Given the description of an element on the screen output the (x, y) to click on. 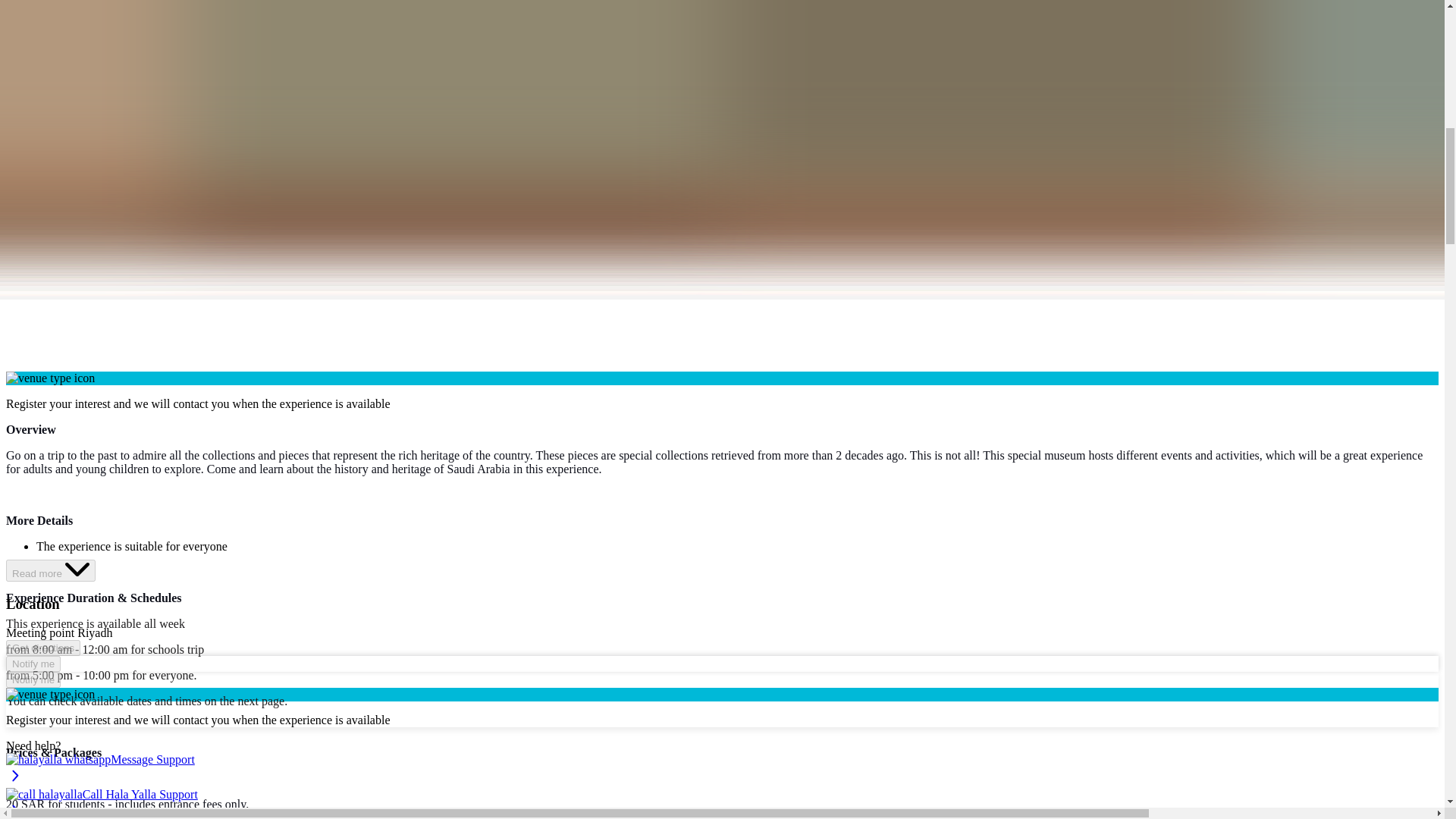
Read more (50, 570)
Notify me (33, 663)
Notify me (33, 679)
Get directions (42, 647)
